Given the description of an element on the screen output the (x, y) to click on. 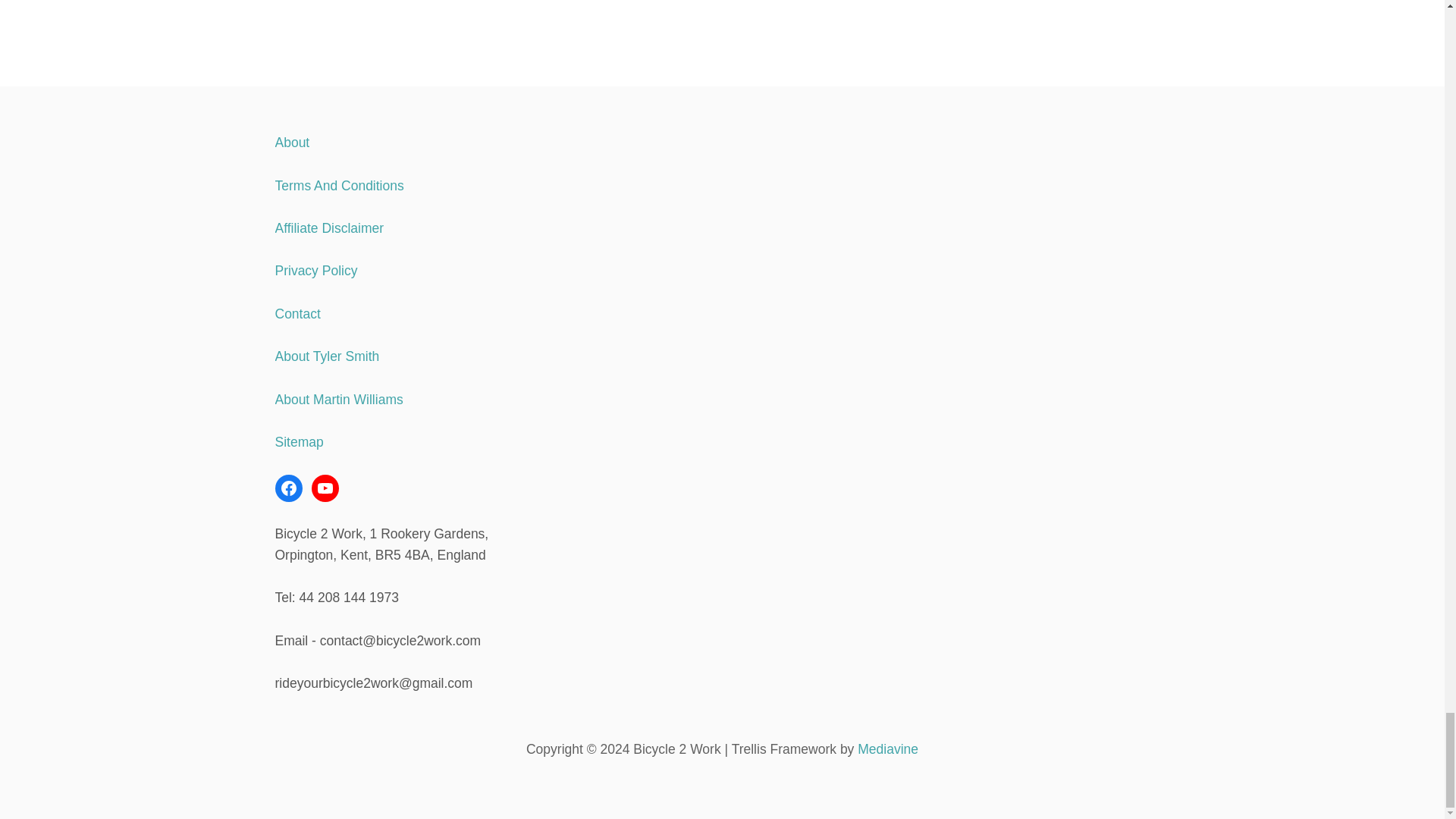
Contact (297, 313)
Terms And Conditions (339, 185)
About Tyler Smith (326, 355)
Affiliate Disclaimer (329, 227)
Privacy Policy (315, 270)
Mediavine (887, 749)
About (291, 142)
Sitemap (299, 441)
YouTube (324, 488)
Facebook (288, 488)
About Martin Williams (339, 399)
